Given the description of an element on the screen output the (x, y) to click on. 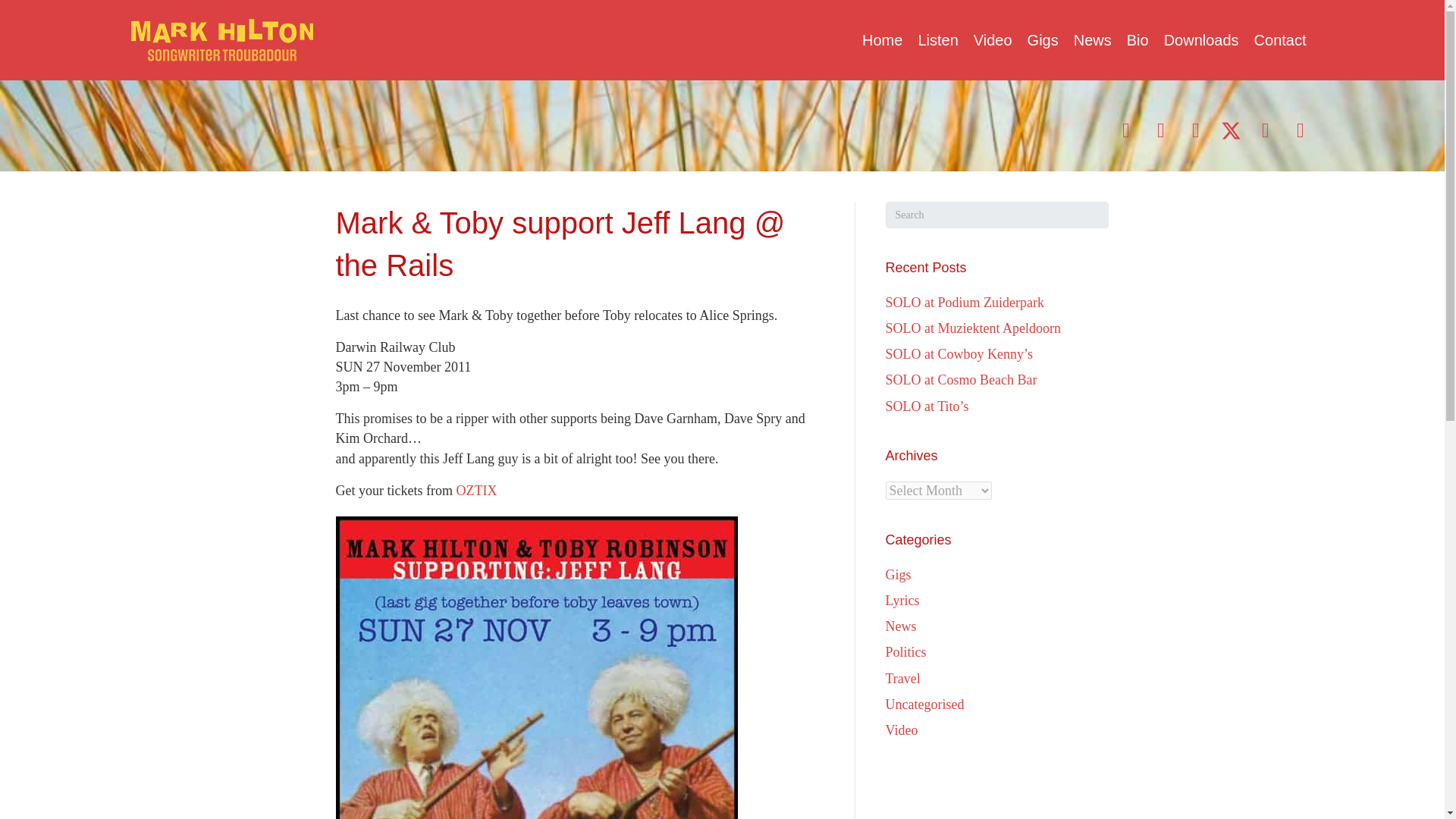
Home (882, 39)
Instagram (1195, 130)
OZTIX (475, 490)
Downloads (1201, 39)
Bandcamp (1265, 130)
Bio (1137, 39)
Contact (1280, 39)
Video (993, 39)
Gigs (1042, 39)
Facebook (1126, 130)
SOLO at Podium Zuiderpark (964, 302)
Listen (937, 39)
Mark-Hilton-Logo-2111-240-56 (222, 39)
LinkedIn (1161, 130)
News (1092, 39)
